Given the description of an element on the screen output the (x, y) to click on. 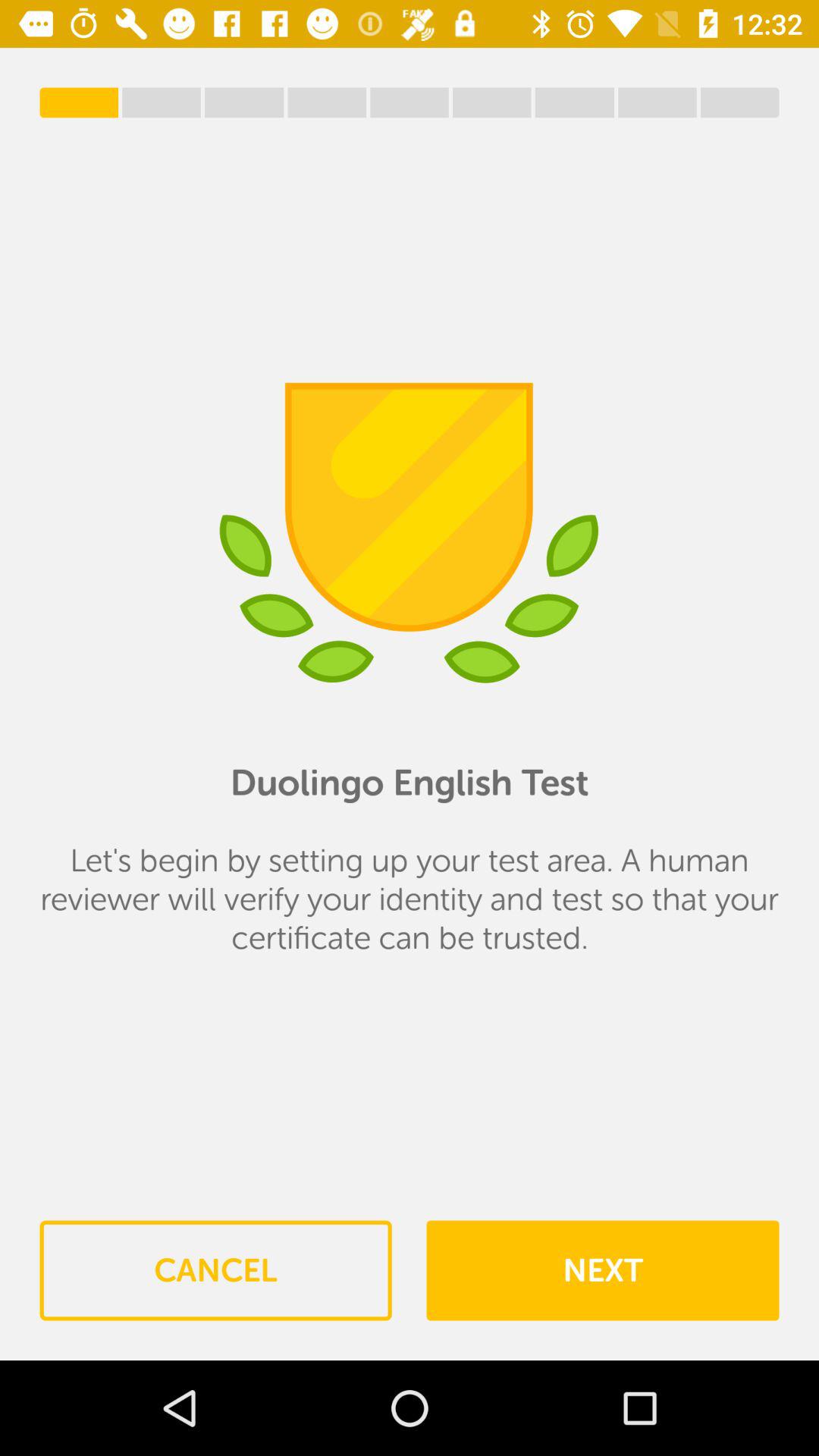
open item to the right of cancel icon (602, 1270)
